Given the description of an element on the screen output the (x, y) to click on. 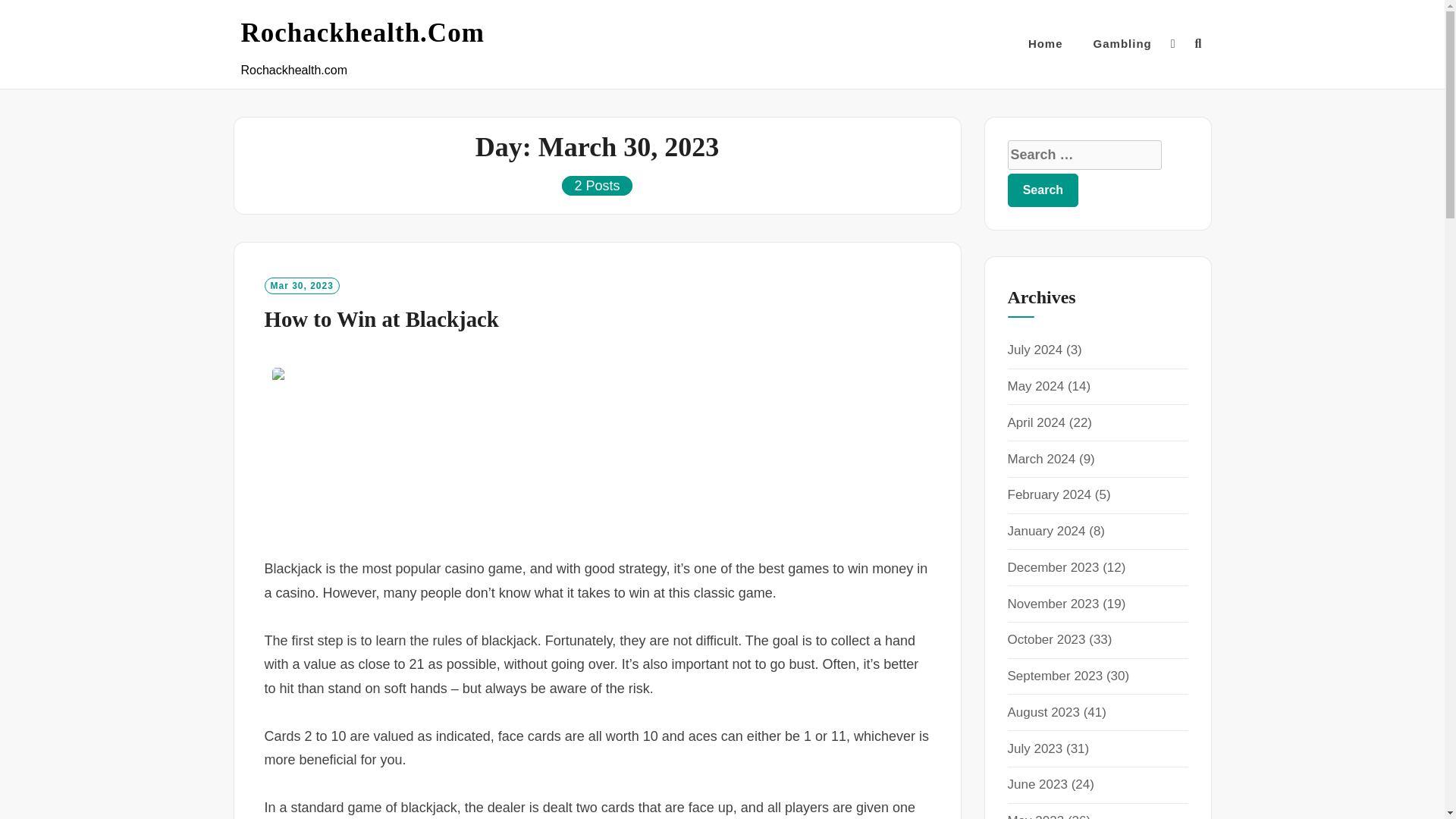
October 2023 (1045, 639)
January 2024 (1045, 531)
Search (1042, 190)
March 2024 (1041, 459)
Mar 30, 2023 (301, 285)
How to Win at Blackjack (380, 319)
Search (1042, 190)
June 2023 (1037, 784)
September 2023 (1054, 676)
Search (1042, 190)
Rochackhealth.Com (362, 33)
December 2023 (1053, 567)
November 2023 (1053, 603)
Gambling (1122, 44)
August 2023 (1042, 712)
